Given the description of an element on the screen output the (x, y) to click on. 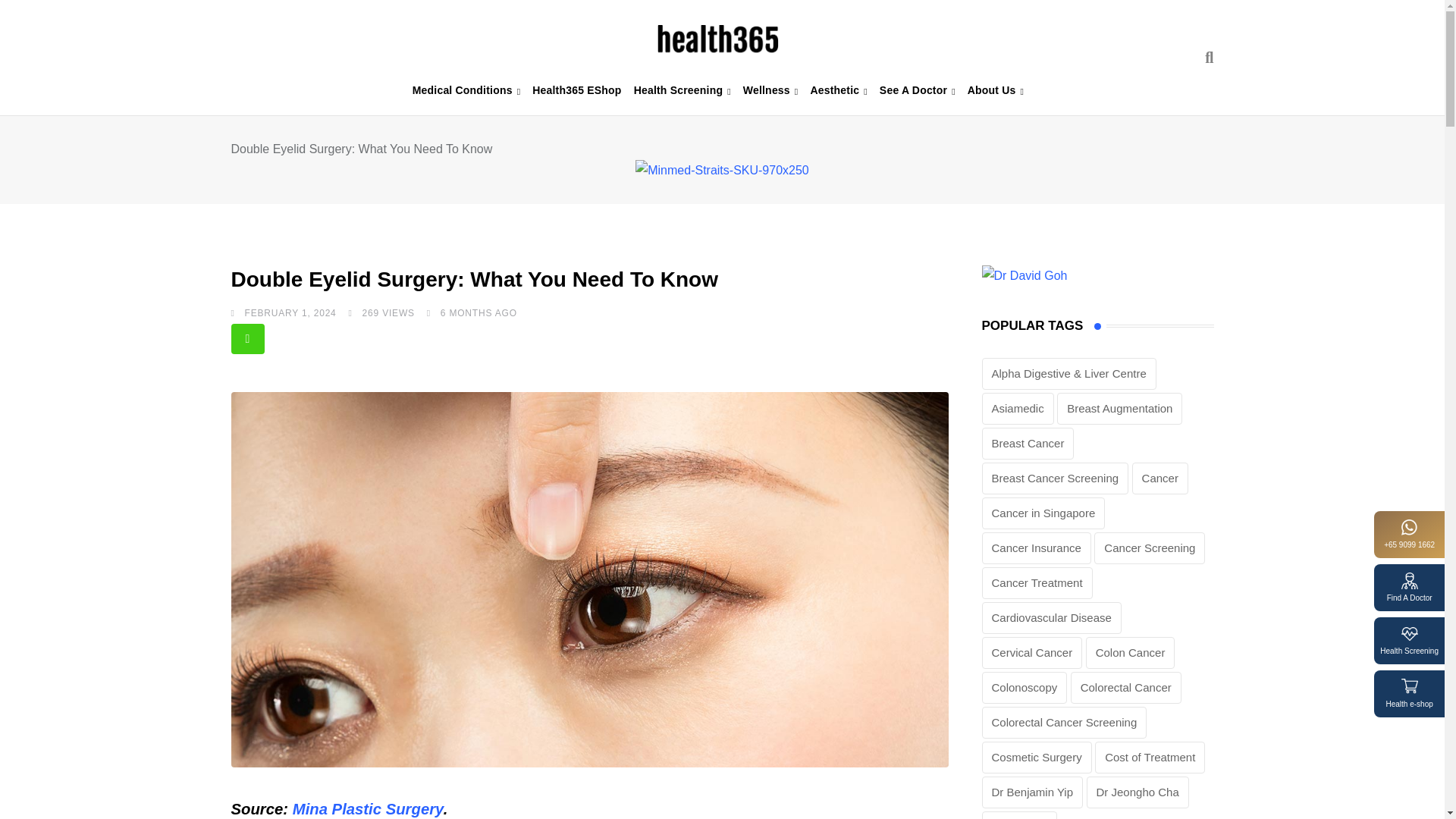
Medical Conditions (466, 90)
